Given the description of an element on the screen output the (x, y) to click on. 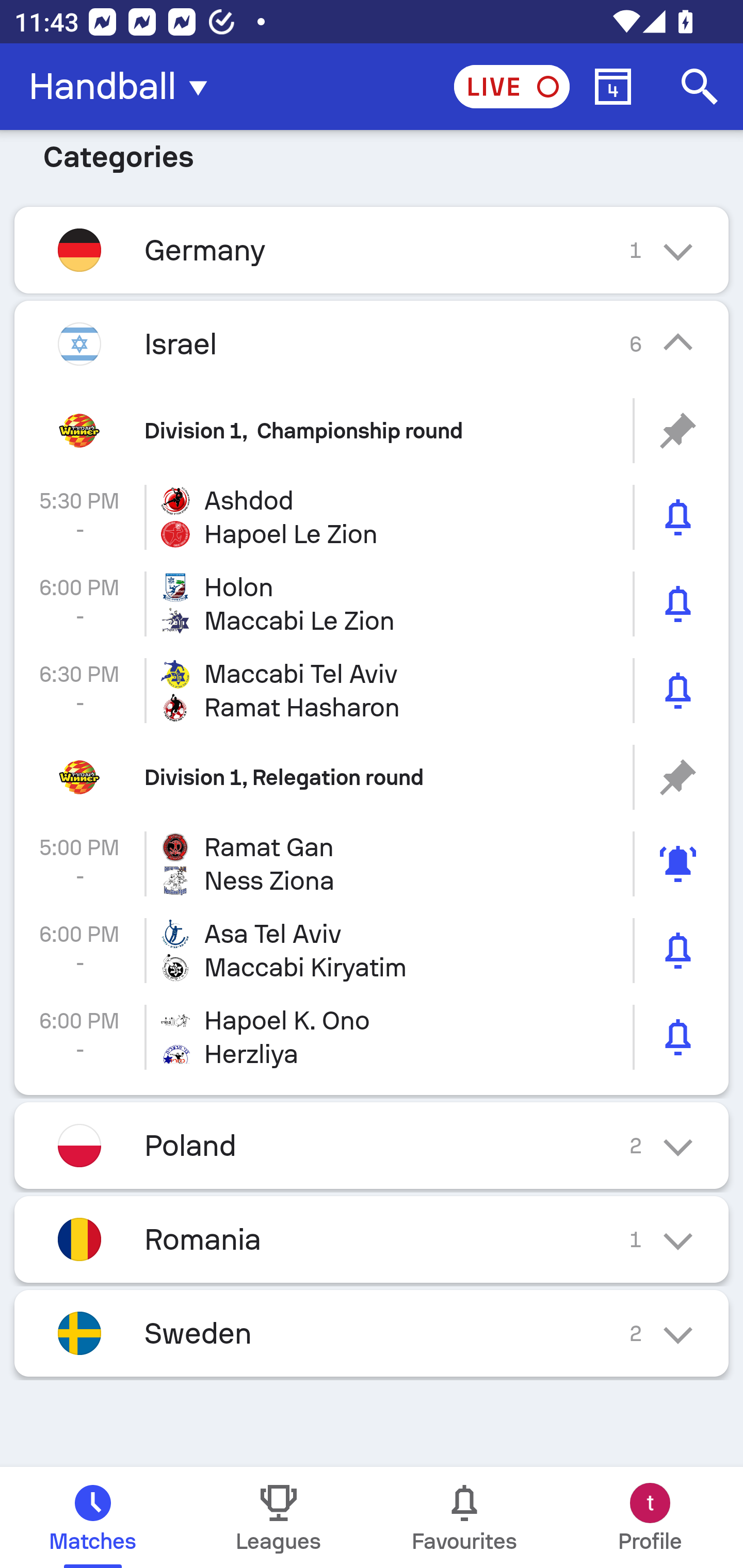
Handball (124, 86)
Calendar (612, 86)
Search (699, 86)
Categories (371, 166)
Germany 1 (371, 249)
Israel 6 (371, 344)
Division 1,  Championship round (371, 430)
5:30 PM - Ashdod Hapoel Le Zion (371, 517)
6:00 PM - Holon Maccabi Le Zion (371, 604)
6:30 PM - Maccabi Tel Aviv Ramat Hasharon (371, 690)
Division 1, Relegation round (371, 776)
5:00 PM - Ramat Gan Ness Ziona (371, 863)
6:00 PM - Asa Tel Aviv Maccabi Kiryatim (371, 950)
6:00 PM - Hapoel K. Ono Herzliya (371, 1037)
Poland 2 (371, 1145)
Romania 1 (371, 1239)
Sweden 2 (371, 1333)
Leagues (278, 1517)
Favourites (464, 1517)
Profile (650, 1517)
